Given the description of an element on the screen output the (x, y) to click on. 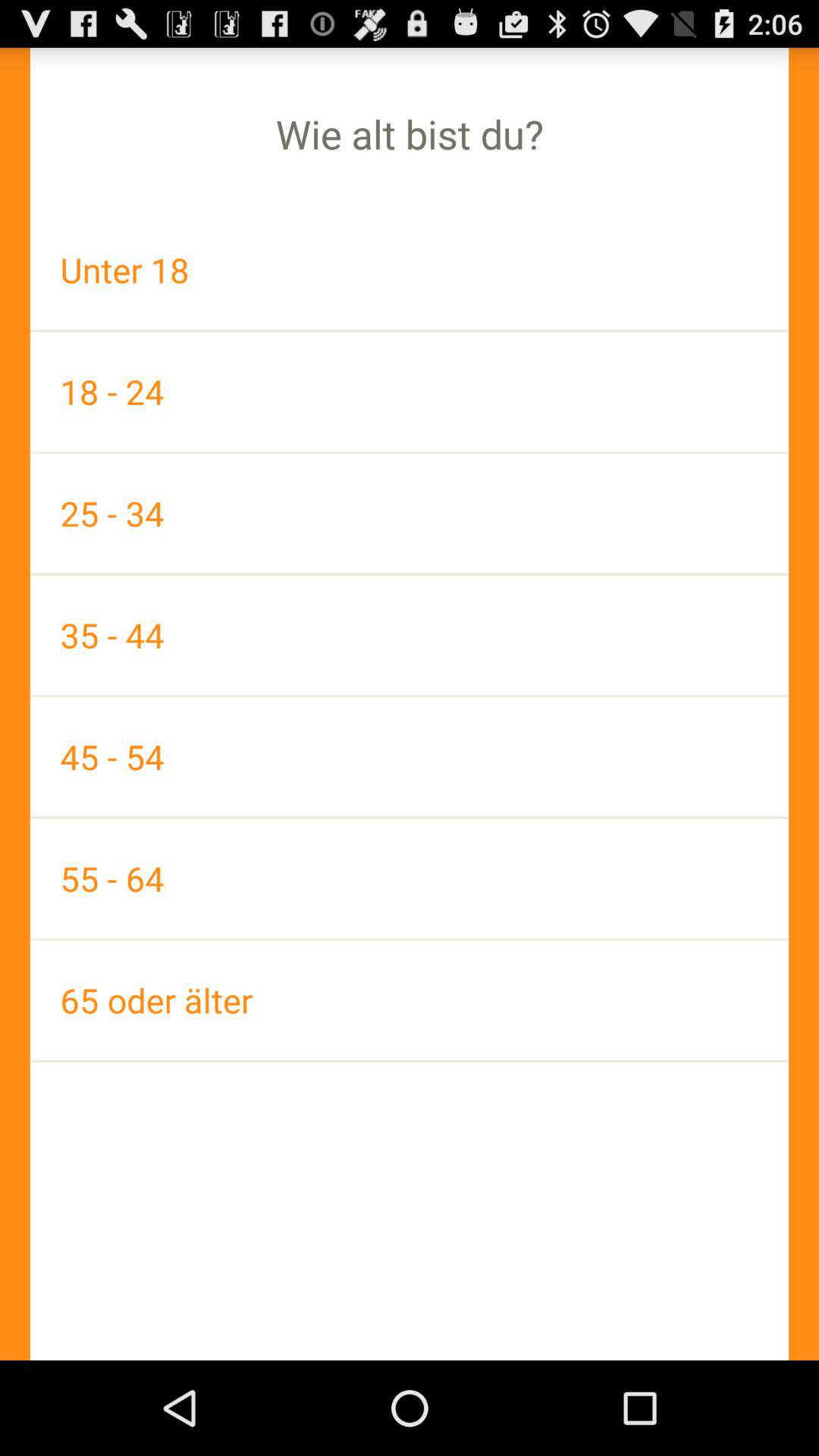
select item below the unter 18 (409, 391)
